Given the description of an element on the screen output the (x, y) to click on. 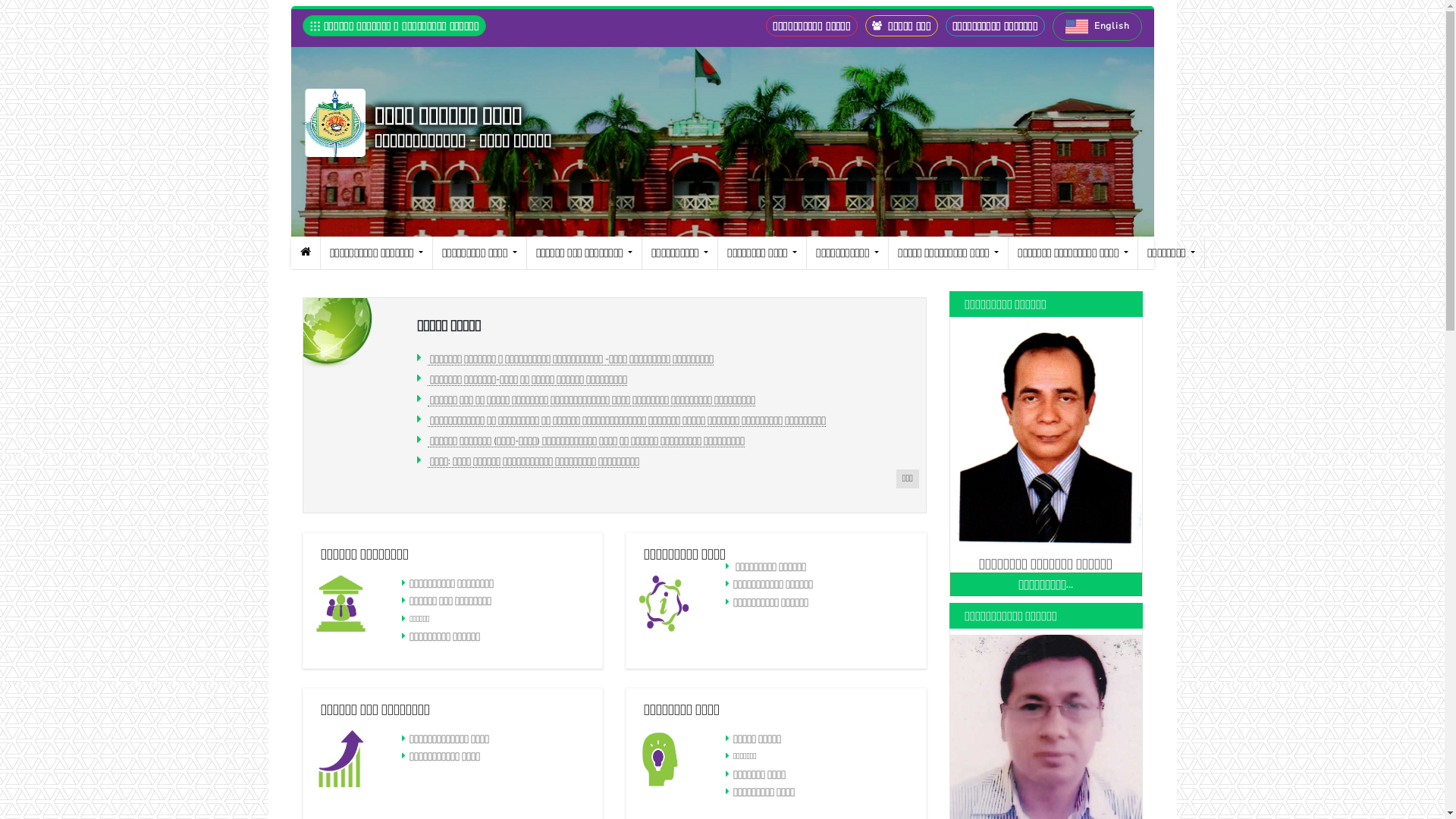
English Element type: text (1097, 26)
